Given the description of an element on the screen output the (x, y) to click on. 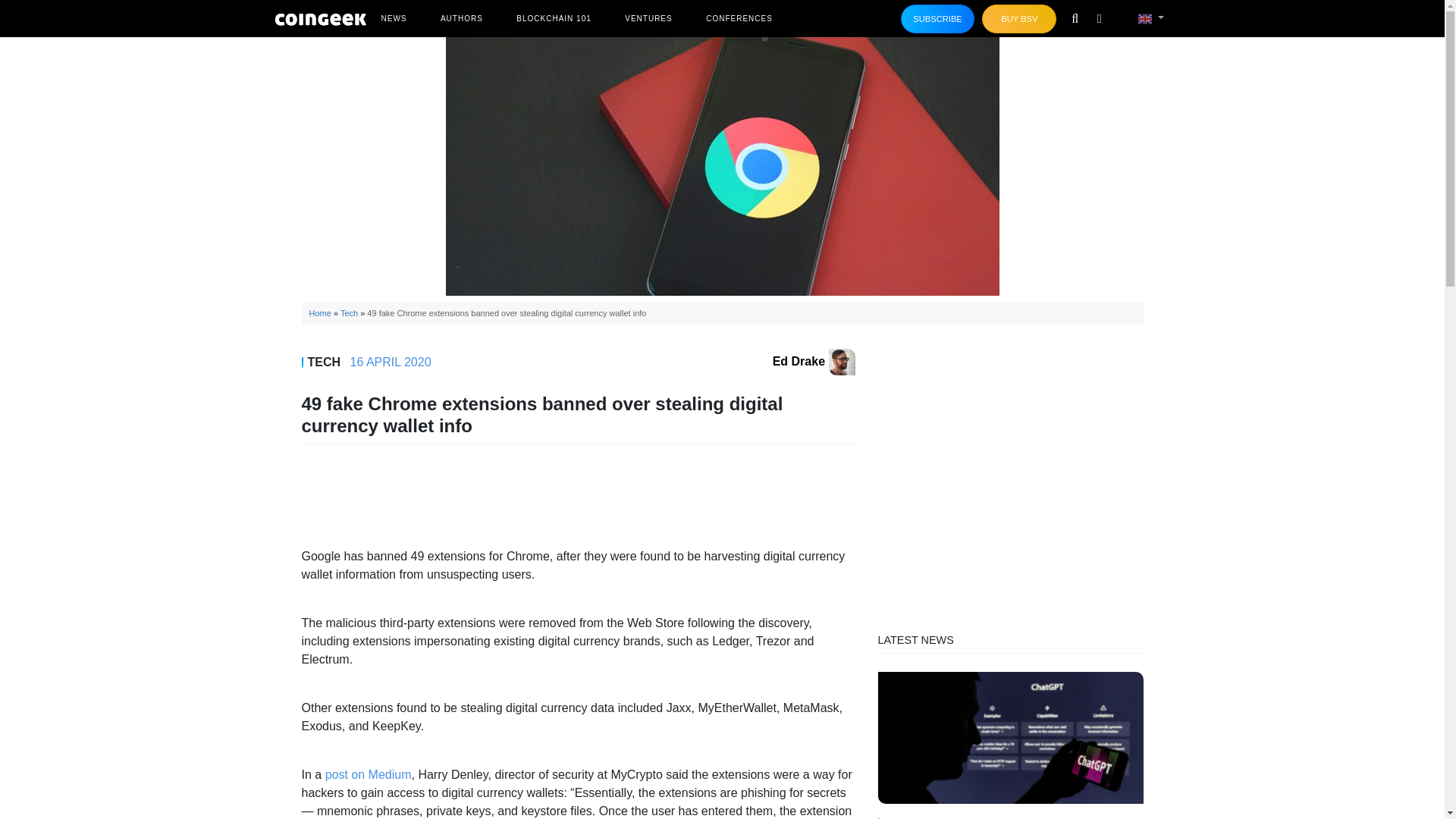
AUTHORS (461, 18)
SUBSCRIBE (938, 18)
BUY BSV (1019, 18)
BLOCKCHAIN 101 (553, 18)
CONFERENCES (739, 18)
Home (319, 312)
NEWS (392, 18)
Tech (349, 312)
VENTURES (648, 18)
